Given the description of an element on the screen output the (x, y) to click on. 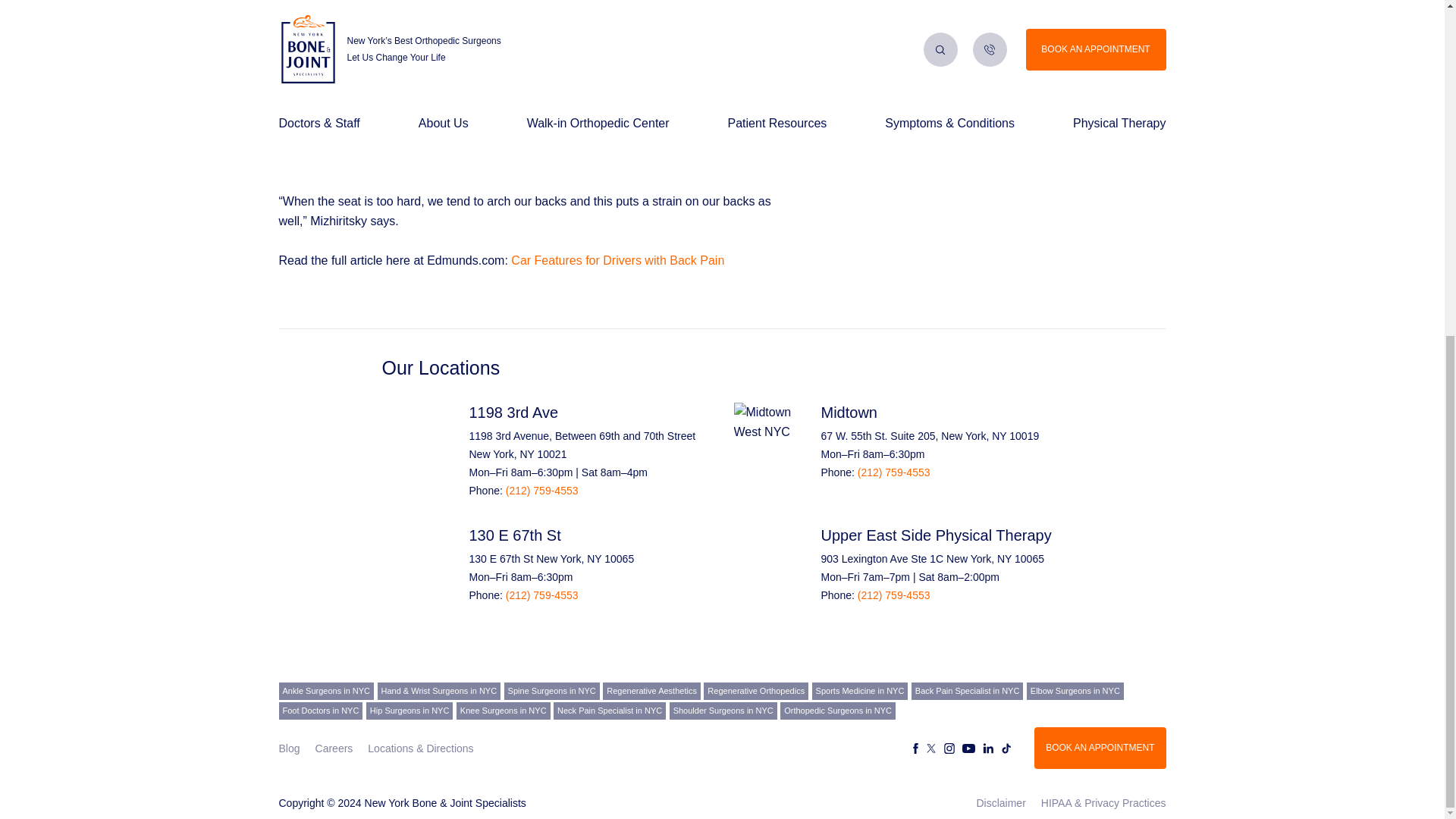
Car Features for Drivers with Back Pain (617, 259)
1198 3rd Ave (512, 412)
